Given the description of an element on the screen output the (x, y) to click on. 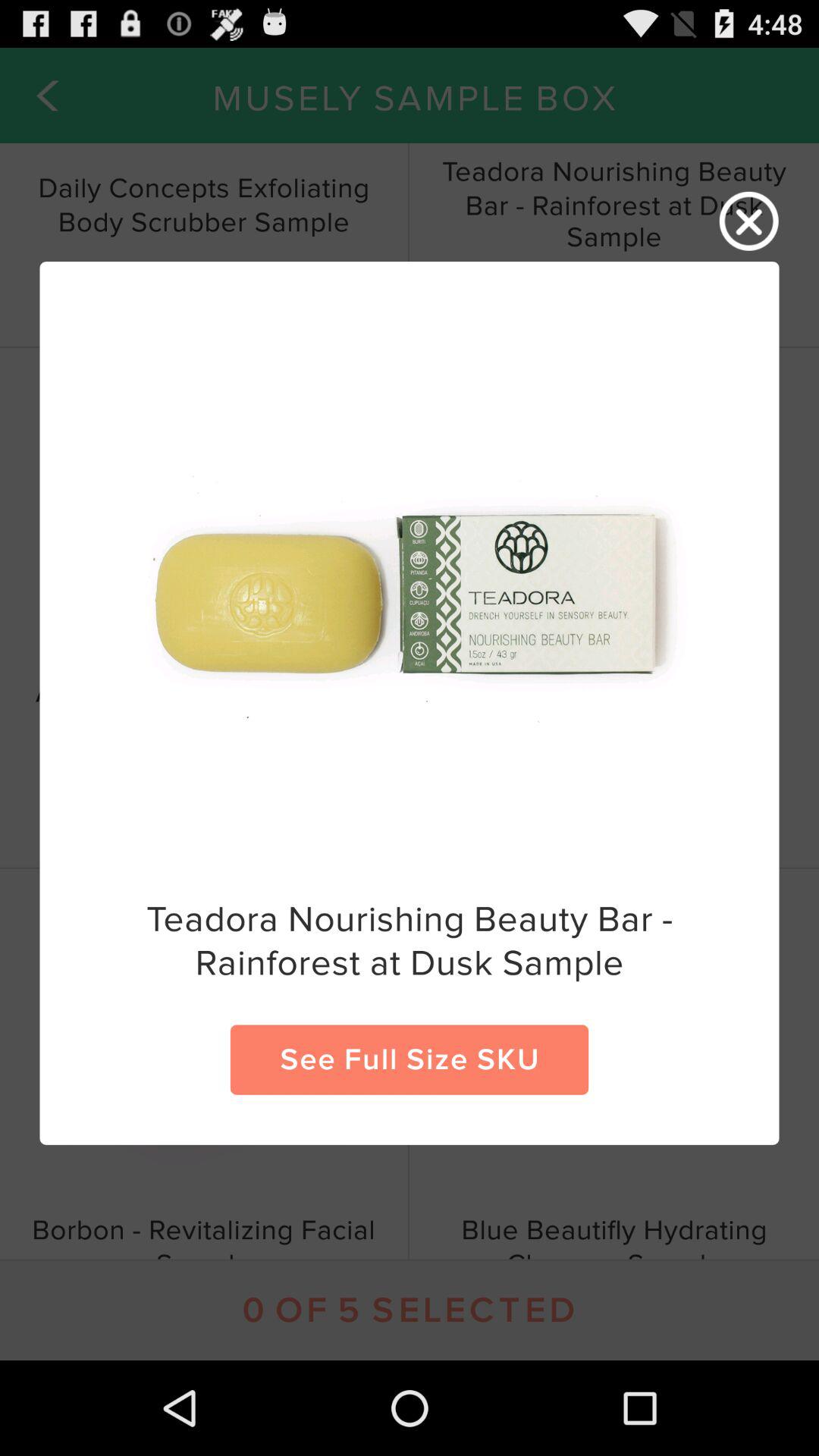
press the icon at the top right corner (749, 221)
